Given the description of an element on the screen output the (x, y) to click on. 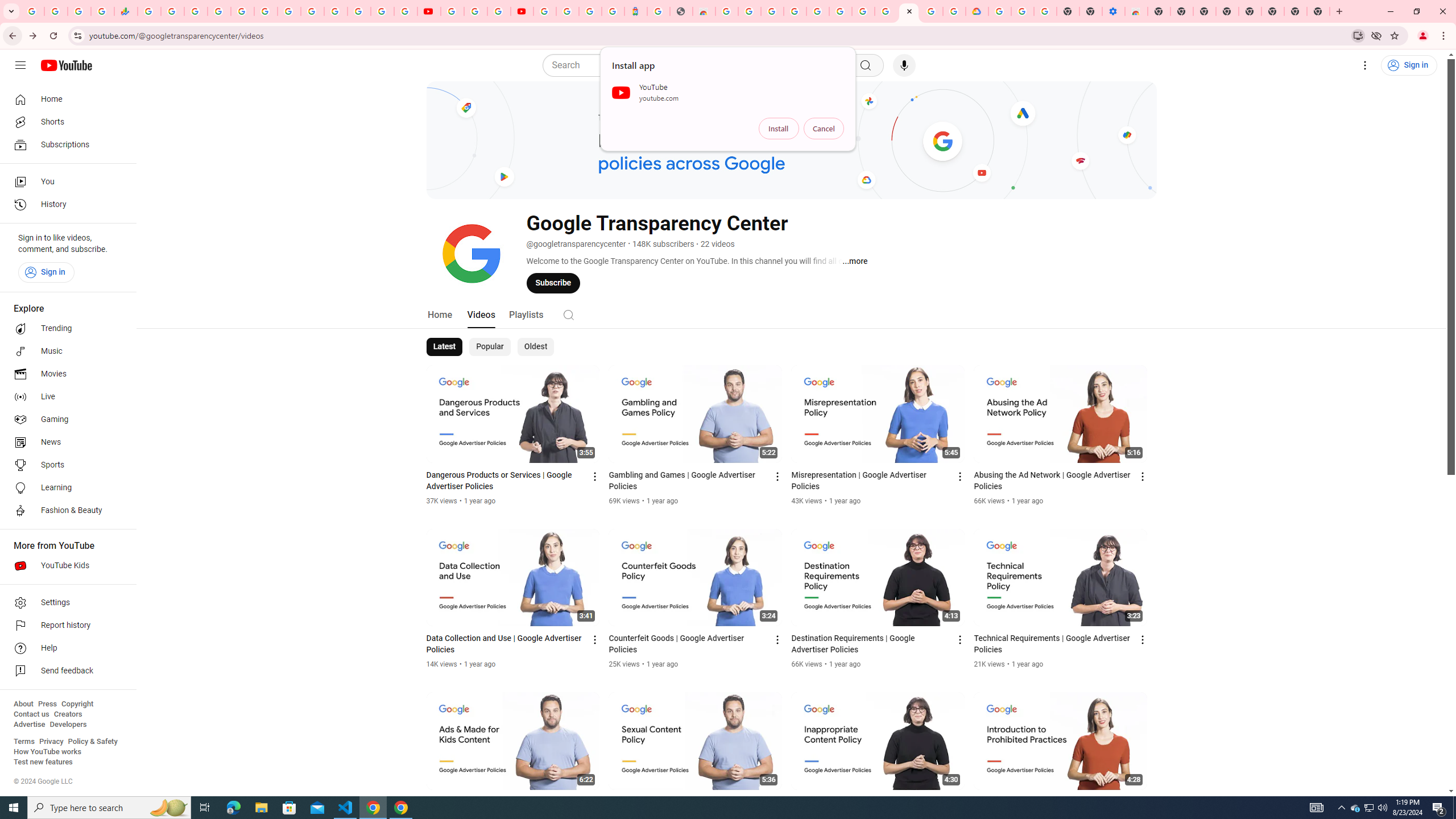
Gaming (64, 419)
Atour Hotel - Google hotels (635, 11)
Sign in - Google Accounts (218, 11)
Google Account Help (475, 11)
Terms (23, 741)
Android TV Policies and Guidelines - Transparency Center (288, 11)
Google Account Help (863, 11)
Report history (64, 625)
Cancel (823, 128)
Settings (1365, 65)
